Given the description of an element on the screen output the (x, y) to click on. 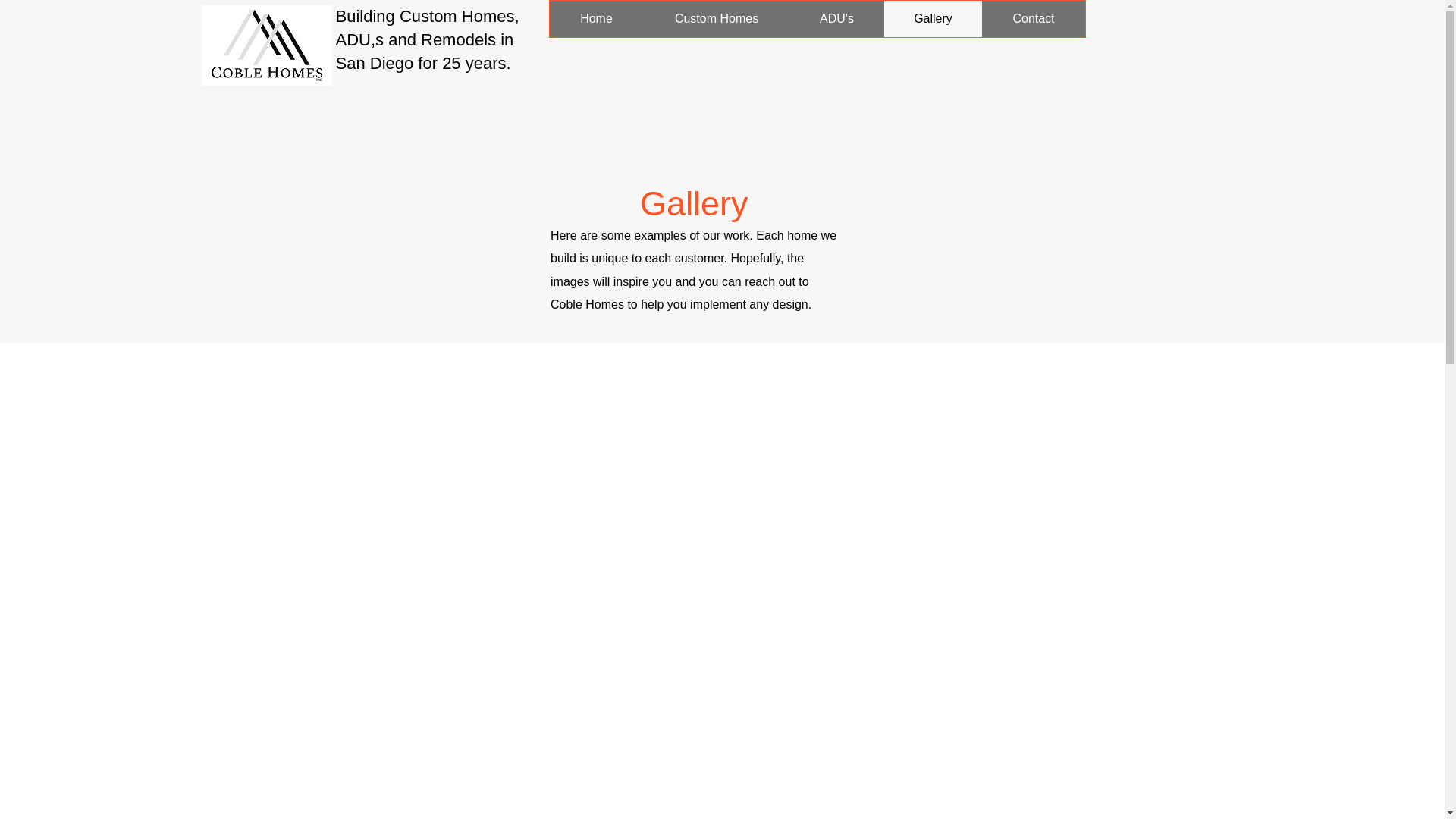
Gallery (932, 18)
ADU's (836, 18)
Custom Homes (716, 18)
Home (595, 18)
Contact (1032, 18)
